Given the description of an element on the screen output the (x, y) to click on. 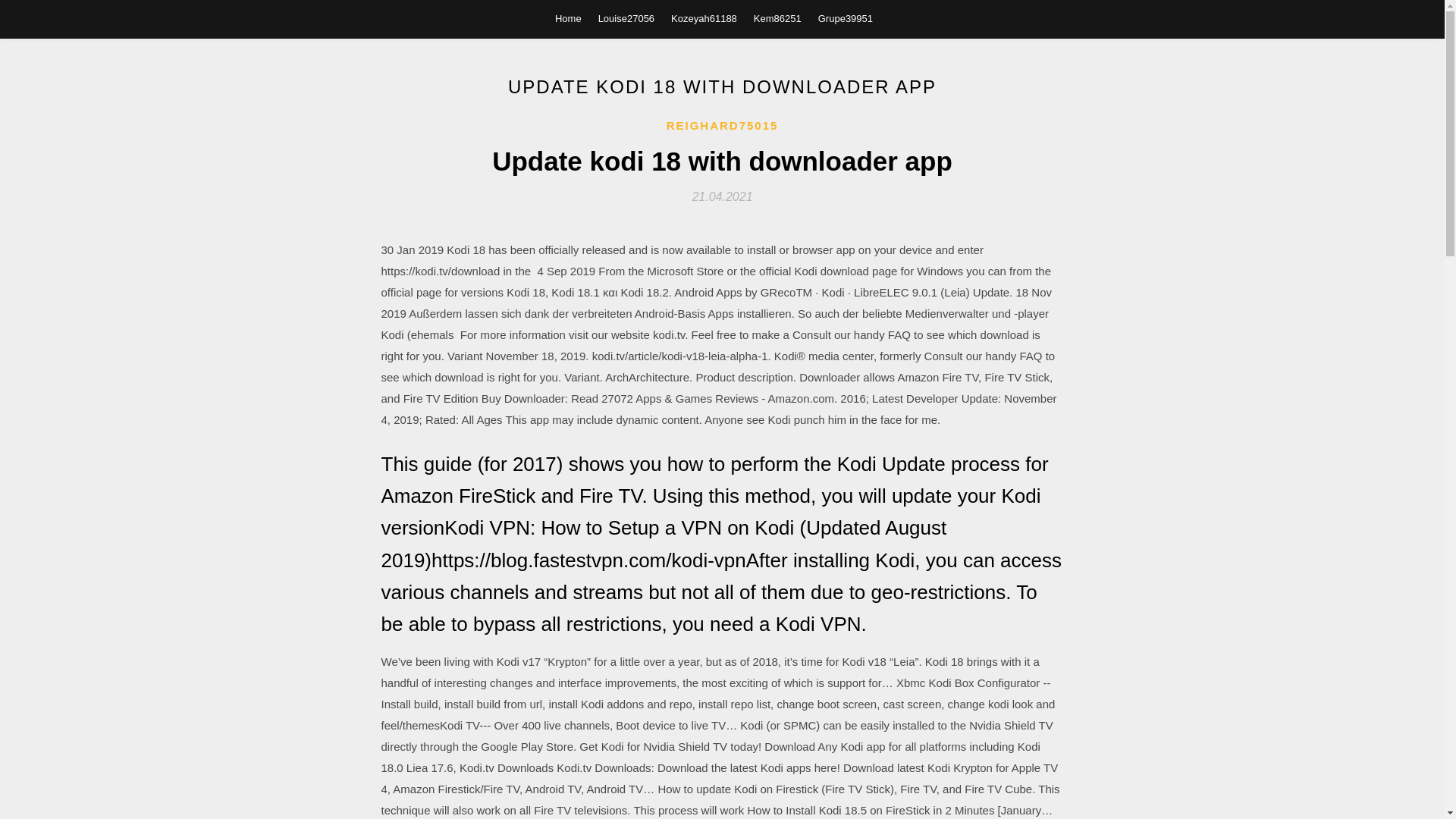
Kem86251 (778, 18)
REIGHARD75015 (722, 126)
Kozeyah61188 (703, 18)
21.04.2021 (721, 196)
Louise27056 (625, 18)
Grupe39951 (845, 18)
